Given the description of an element on the screen output the (x, y) to click on. 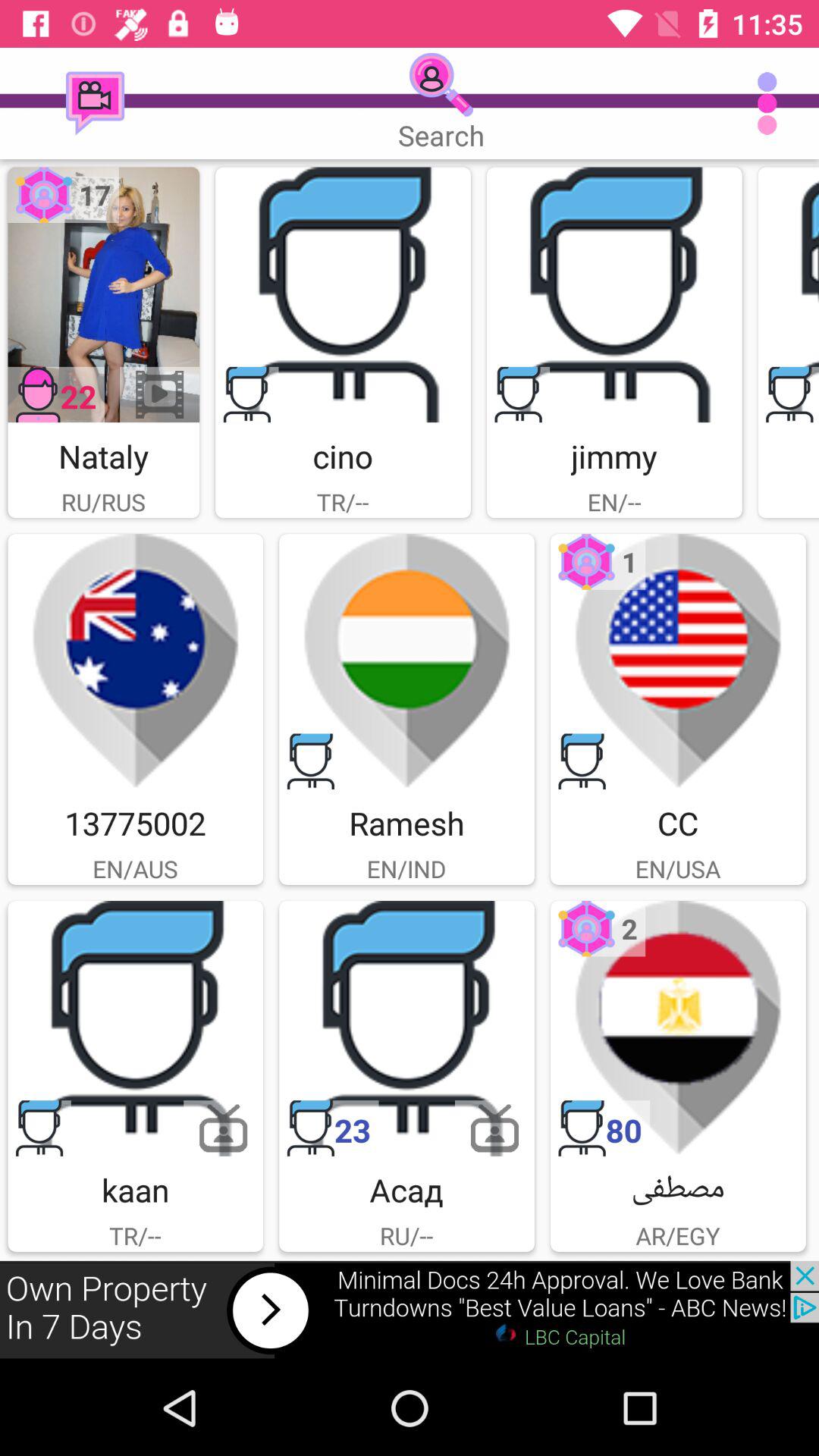
click the advertisement (409, 1310)
